Given the description of an element on the screen output the (x, y) to click on. 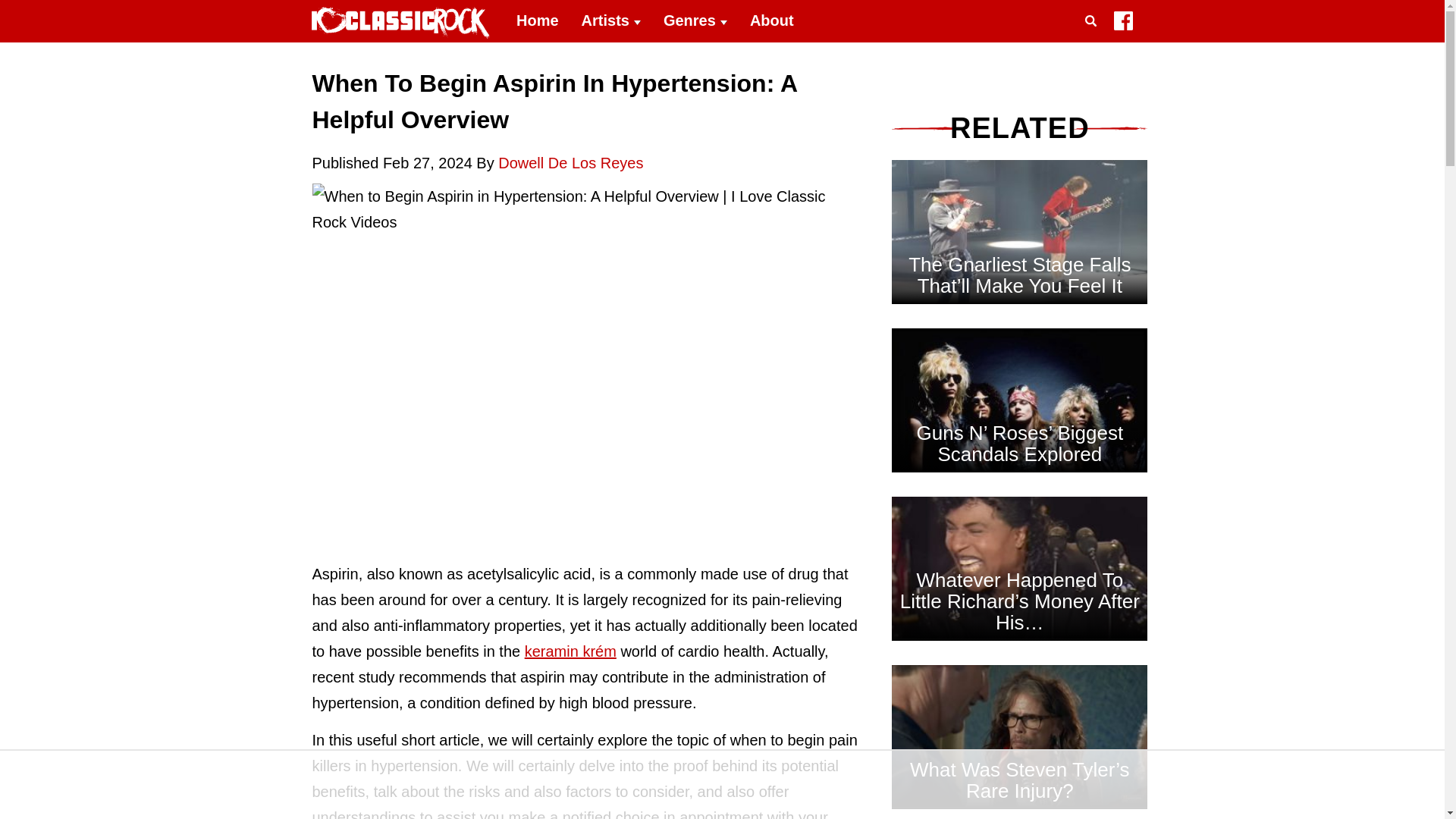
Home (537, 21)
About (771, 21)
I Love Classic Rock on Facebook (1122, 24)
Genres (695, 21)
Search (1093, 39)
Search (1093, 39)
Artists (611, 21)
